Given the description of an element on the screen output the (x, y) to click on. 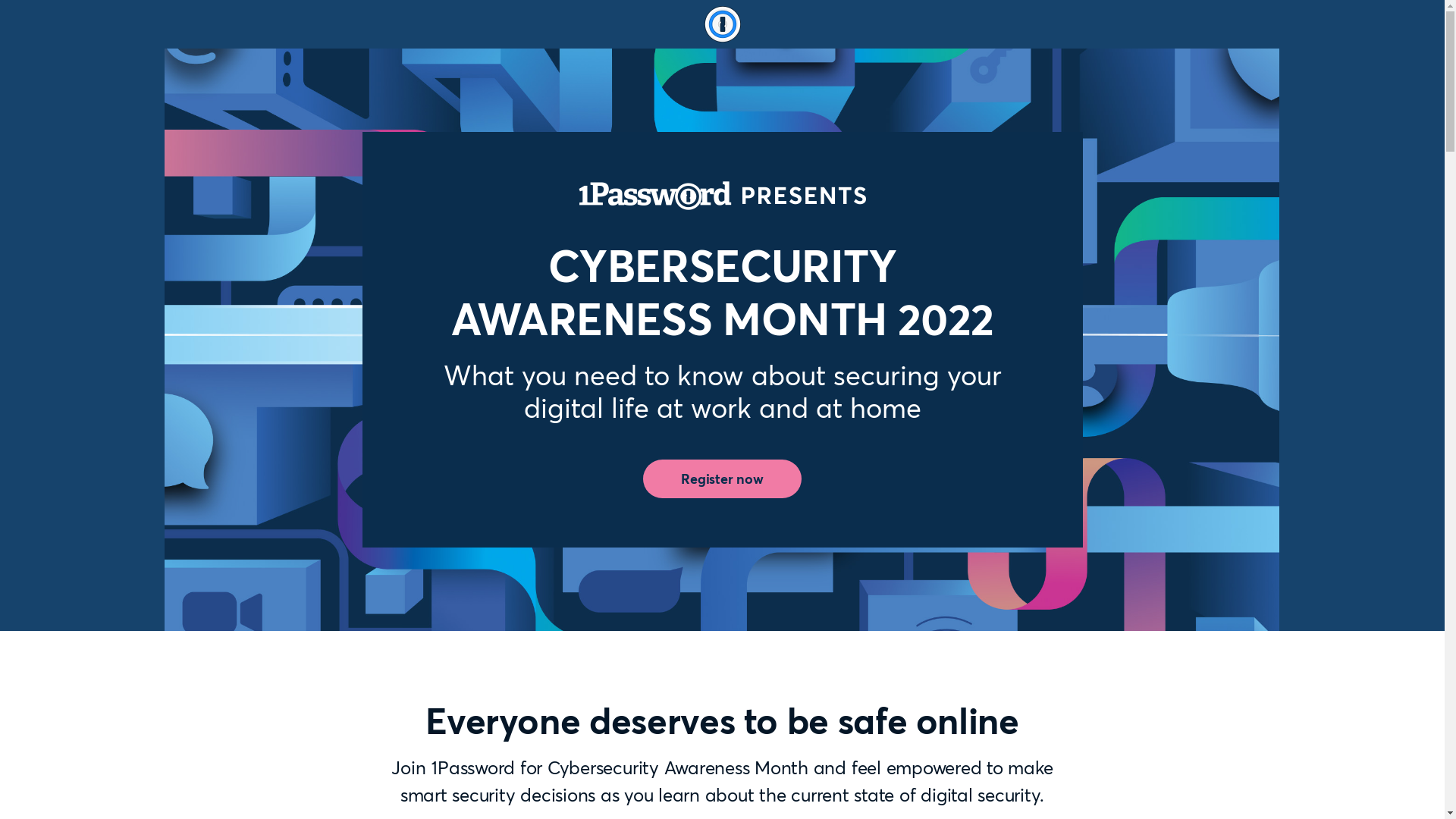
Register now Element type: text (722, 478)
